Given the description of an element on the screen output the (x, y) to click on. 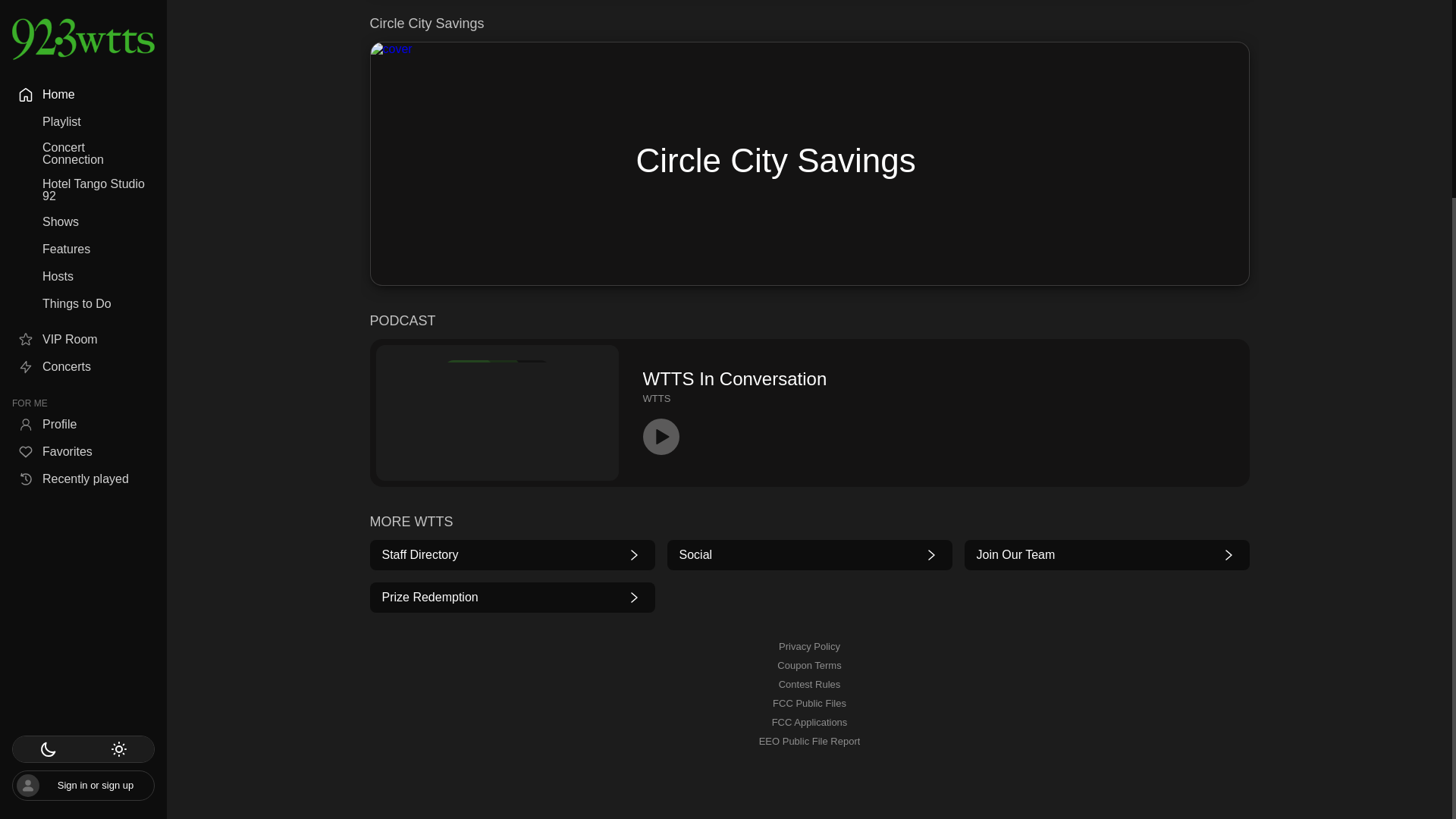
Things to Do (82, 42)
Contest Rules (809, 684)
FCC Public Files (809, 703)
Profile (82, 162)
FCC Applications (809, 722)
VIP Room (82, 78)
Prize Redemption (512, 597)
Recently played (82, 217)
Coupon Terms (809, 665)
Sign in or sign up (82, 523)
